Given the description of an element on the screen output the (x, y) to click on. 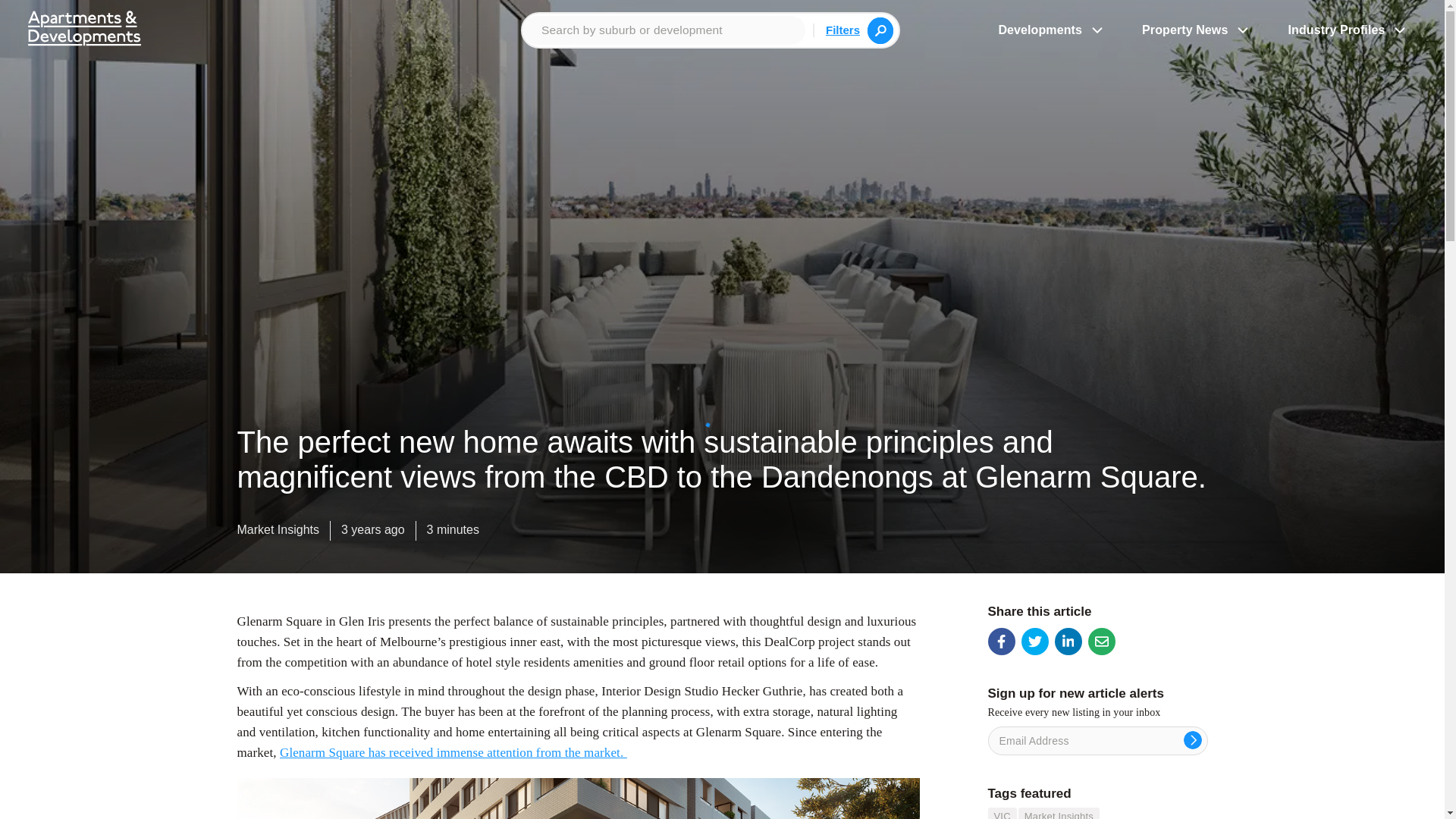
Filters (842, 29)
Market Insights (1058, 813)
Market Insights (276, 532)
VIC (1001, 813)
